Given the description of an element on the screen output the (x, y) to click on. 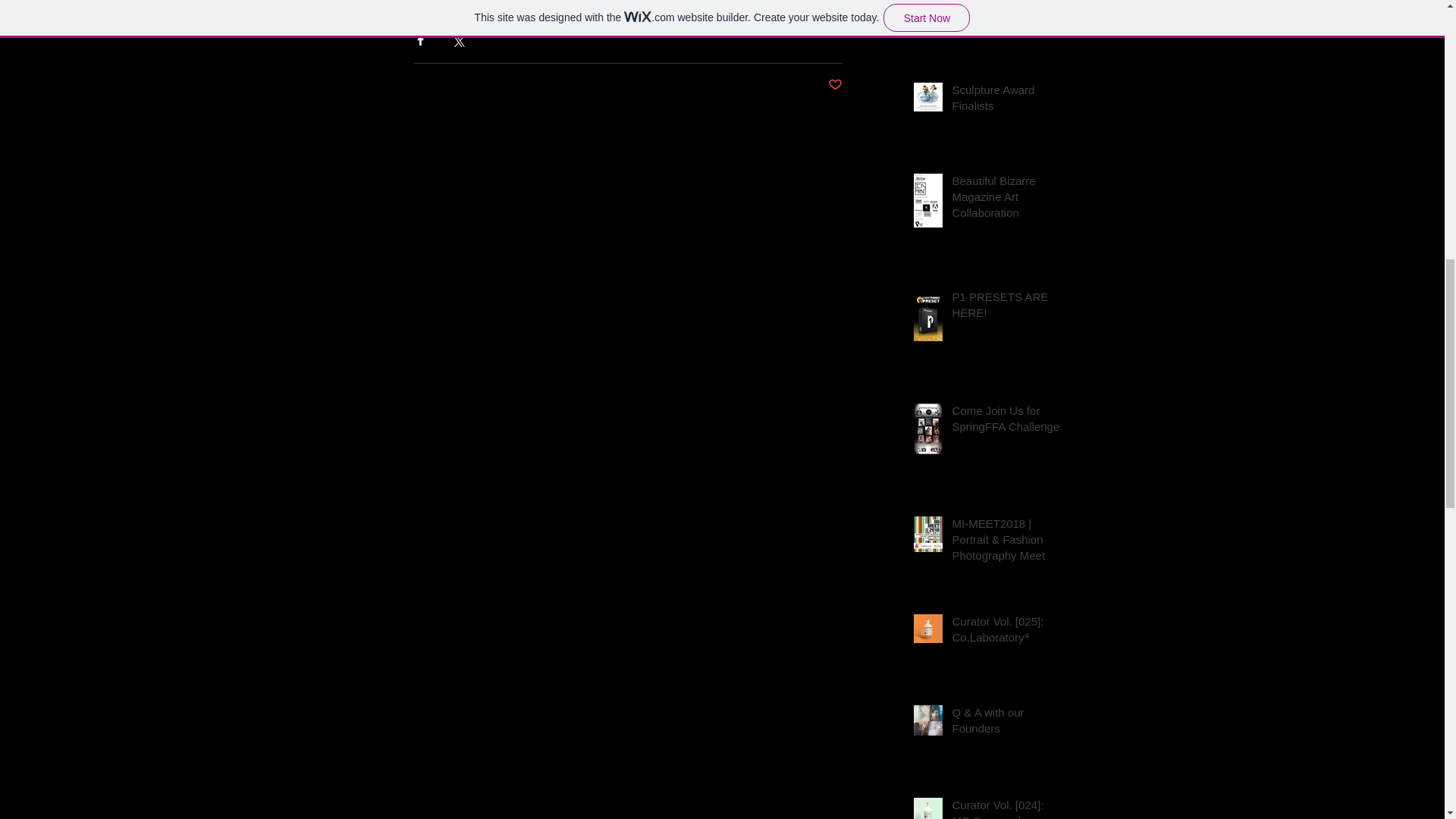
Post not marked as liked (835, 84)
P1 PRESETS ARE HERE! (1006, 307)
Come Join Us for SpringFFA Challenge (1006, 421)
Stocksy United Photography Award Finalists (1006, 13)
Sculpture Award Finalists (1006, 100)
Beautiful Bizarre Magazine Art Collaboration (1006, 199)
